Given the description of an element on the screen output the (x, y) to click on. 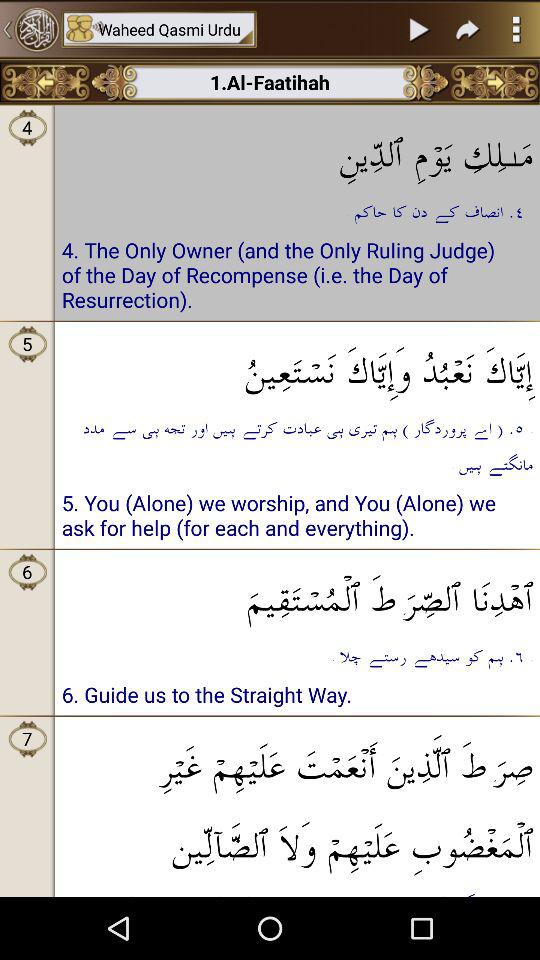
play option (420, 29)
